Given the description of an element on the screen output the (x, y) to click on. 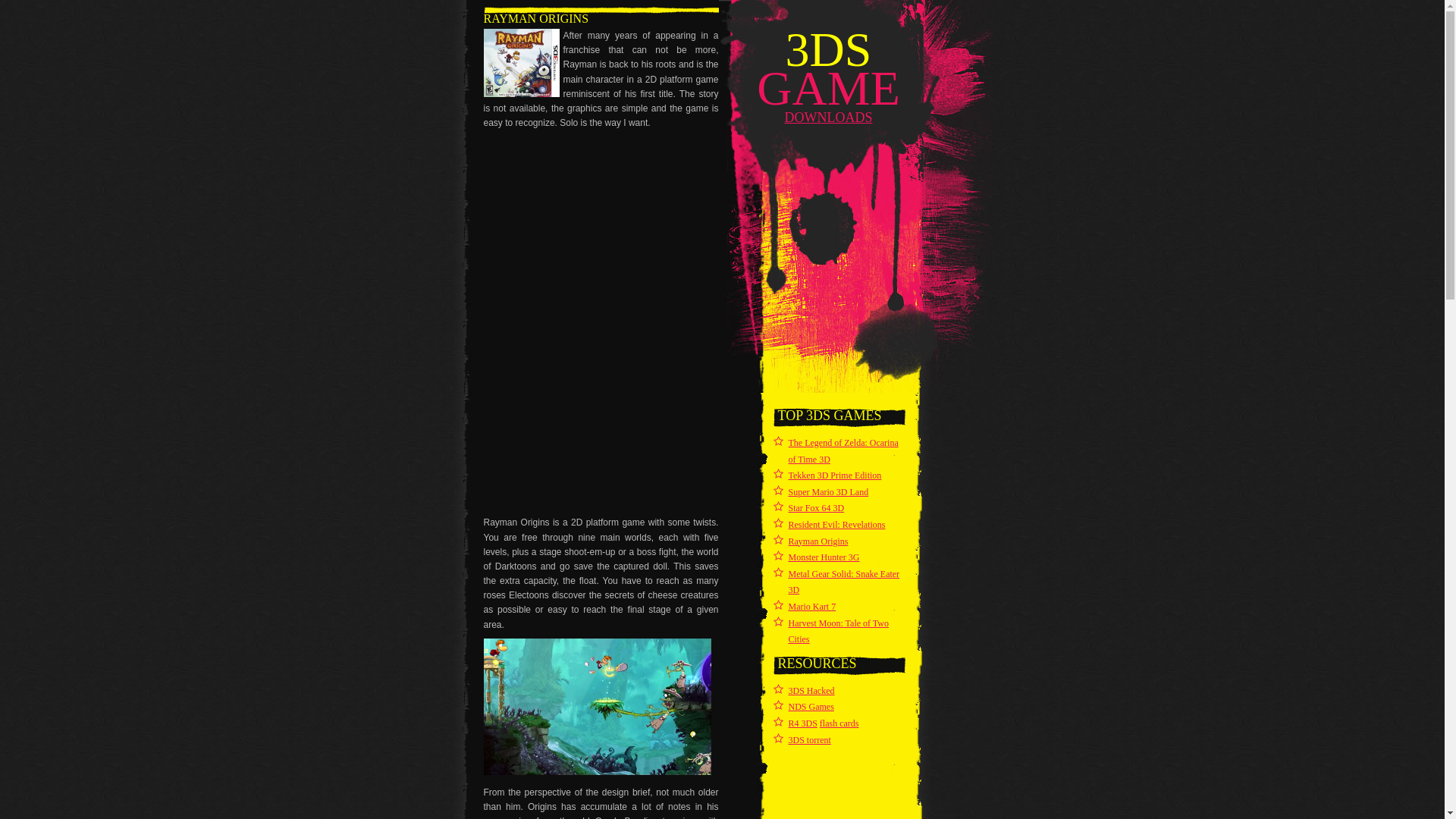
Star Fox 64 3D Element type: text (816, 507)
3DS Hacked Element type: text (811, 690)
DOWNLOADS Element type: text (828, 117)
Rayman Origins Element type: text (818, 541)
Monster Hunter 3G Element type: text (823, 557)
Advertisement Element type: hover (597, 419)
Tekken 3D Prime Edition Element type: text (834, 475)
Super Mario 3D Land Element type: text (828, 491)
3DS torrent Element type: text (809, 739)
Harvest Moon: Tale of Two Cities Element type: text (838, 631)
Advertisement Element type: hover (597, 228)
Metal Gear Solid: Snake Eater 3D Element type: text (844, 582)
The Legend of Zelda: Ocarina of Time 3D Element type: text (843, 450)
3DS GAME Element type: text (827, 68)
Resident Evil: Revelations Element type: text (836, 524)
Mario Kart 7 Element type: text (812, 606)
flash cards Element type: text (839, 723)
NDS Games Element type: text (811, 706)
R4 3DS Element type: text (802, 723)
